Given the description of an element on the screen output the (x, y) to click on. 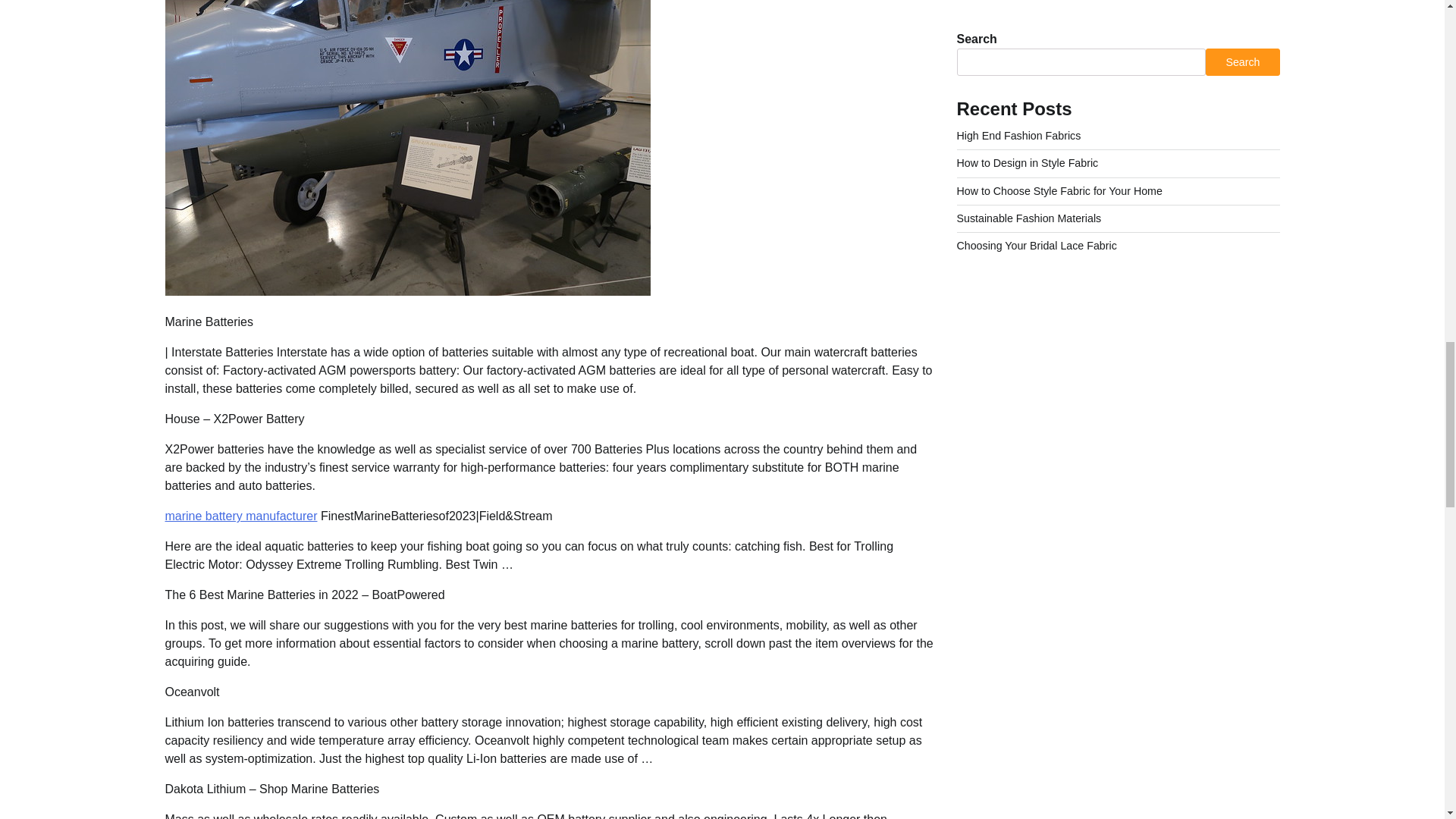
marine battery manufacturer (241, 515)
